Given the description of an element on the screen output the (x, y) to click on. 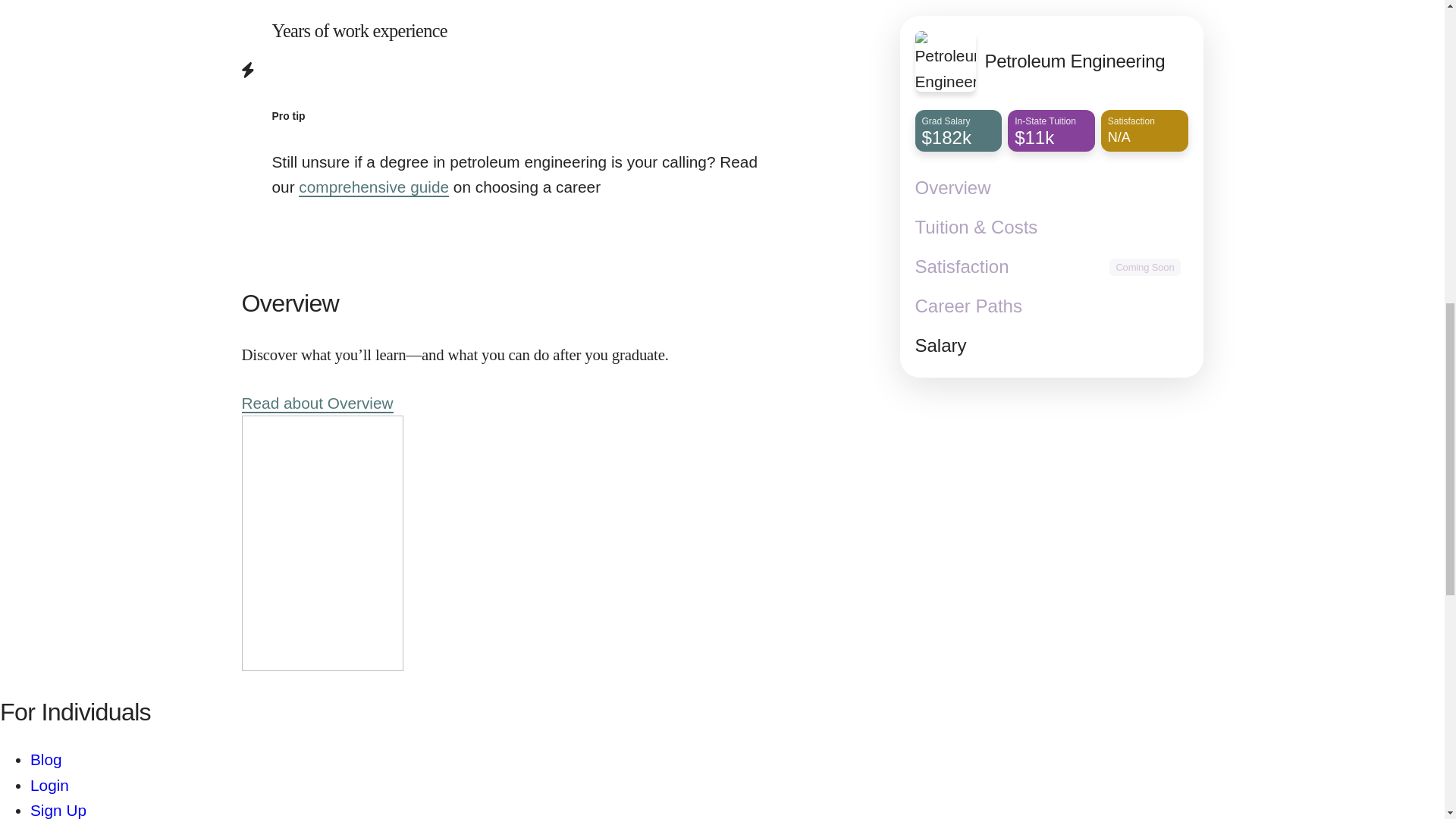
Blog (46, 760)
Sign Up (57, 810)
Read about Overview (317, 403)
comprehensive guide (373, 187)
Login (49, 785)
